Given the description of an element on the screen output the (x, y) to click on. 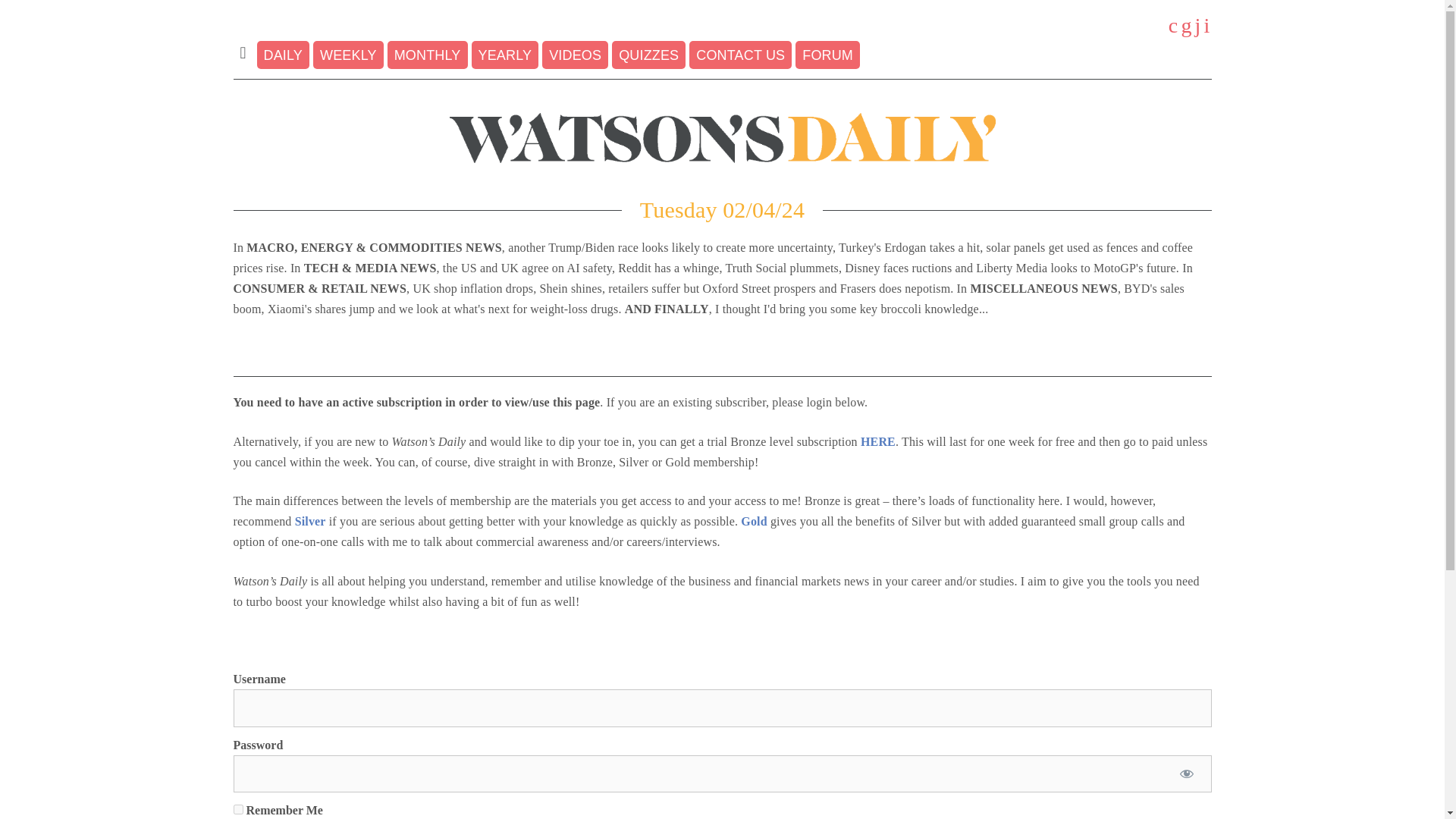
Silver (310, 521)
QUIZZES (648, 54)
FORUM (827, 54)
MONTHLY (427, 54)
WEEKLY (348, 54)
Gold (754, 521)
CONTACT US (740, 54)
DAILY (283, 54)
YEARLY (504, 54)
HERE (877, 440)
forever (237, 809)
VIDEOS (574, 54)
